Given the description of an element on the screen output the (x, y) to click on. 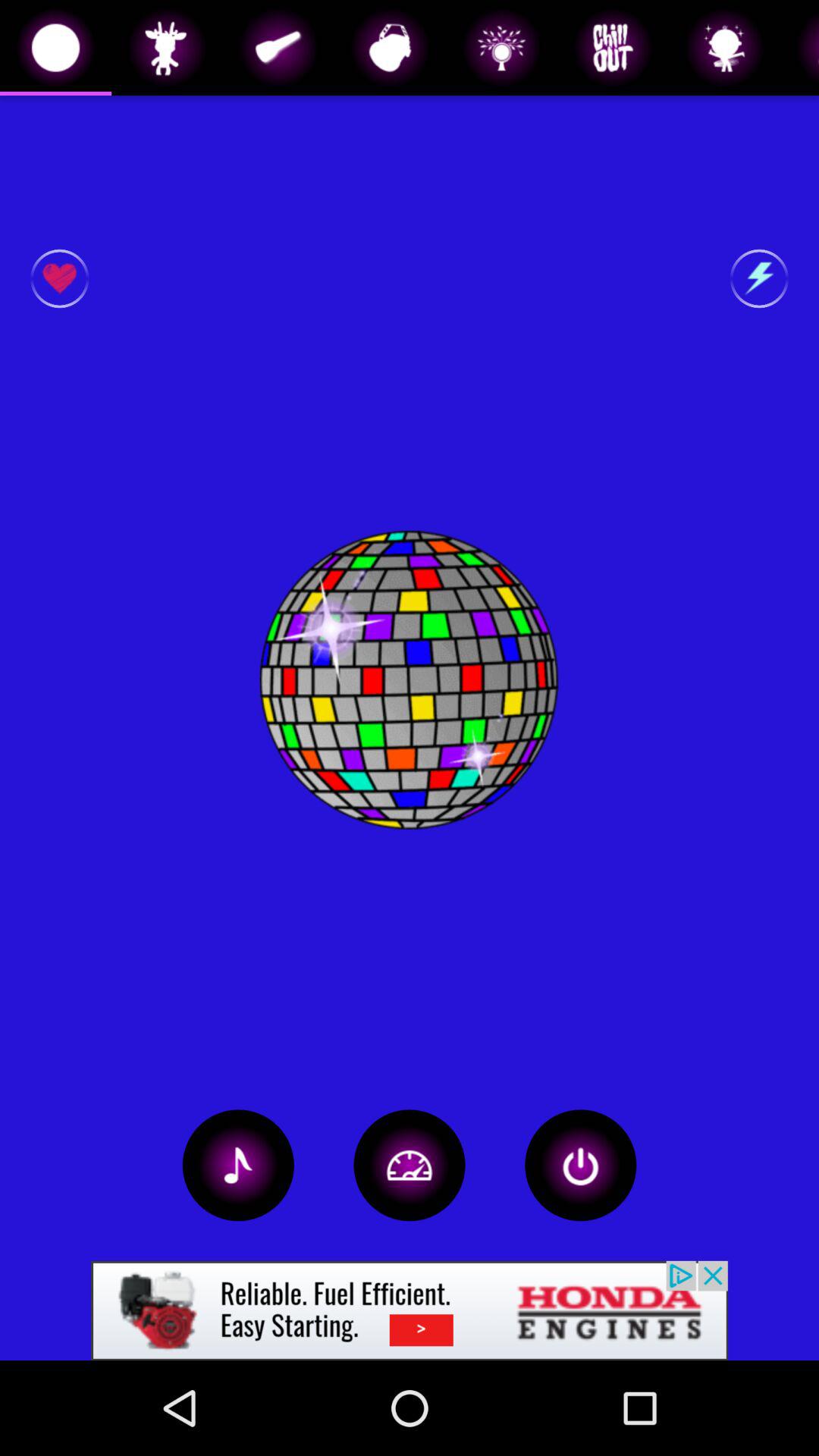
power off (580, 1165)
